Given the description of an element on the screen output the (x, y) to click on. 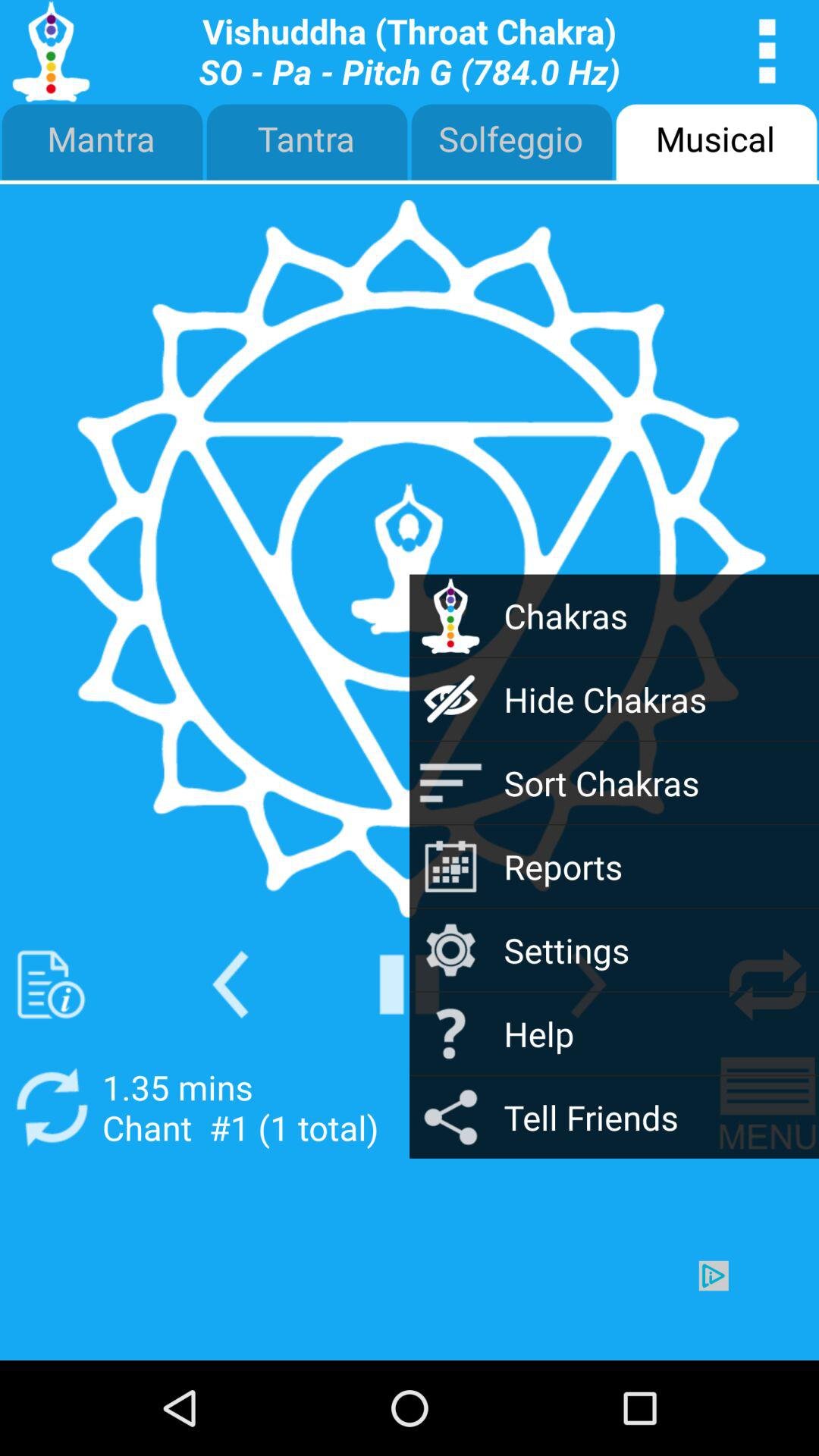
toggle navigation menu (767, 1107)
